Given the description of an element on the screen output the (x, y) to click on. 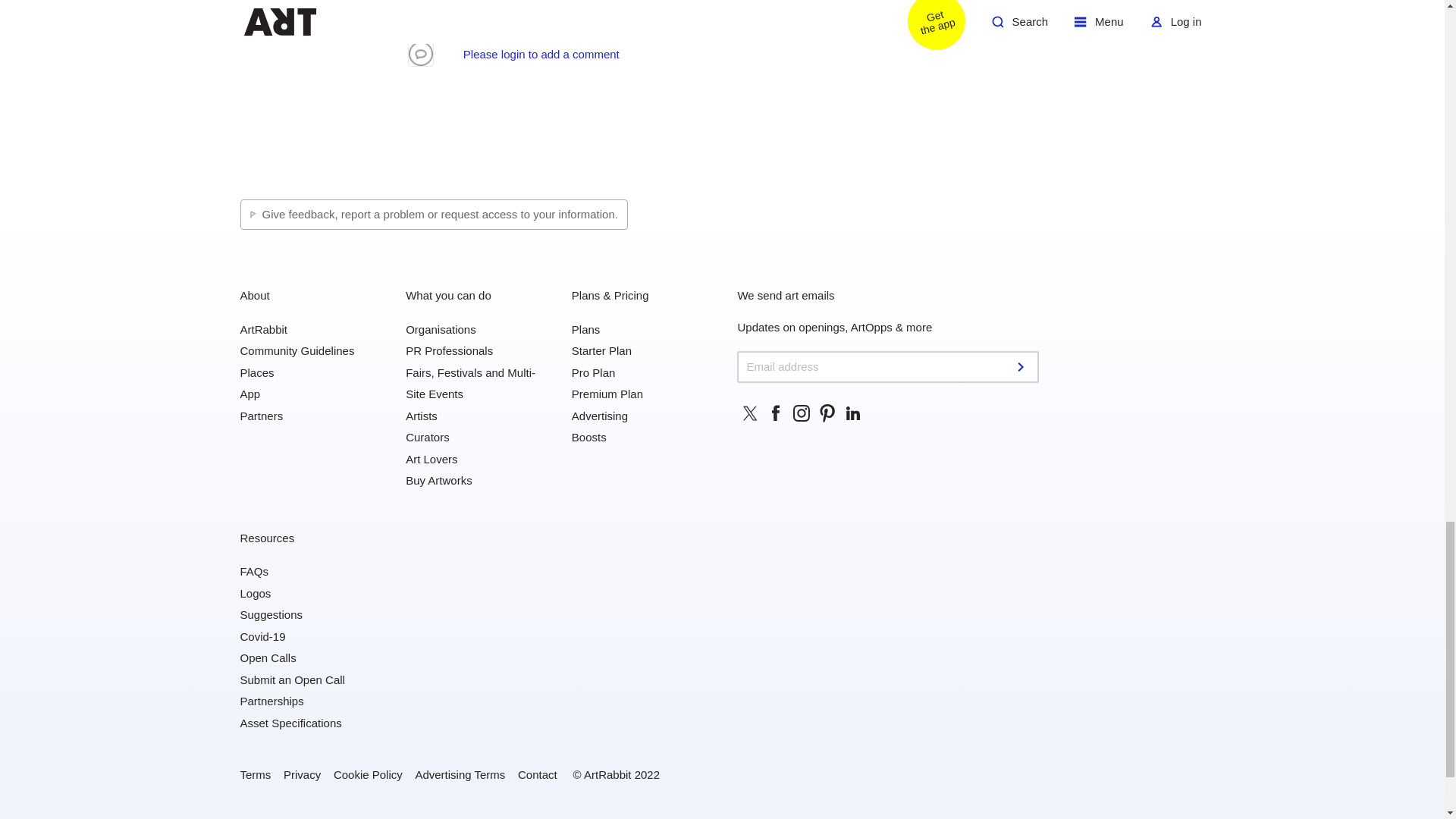
submit (1021, 366)
